Given the description of an element on the screen output the (x, y) to click on. 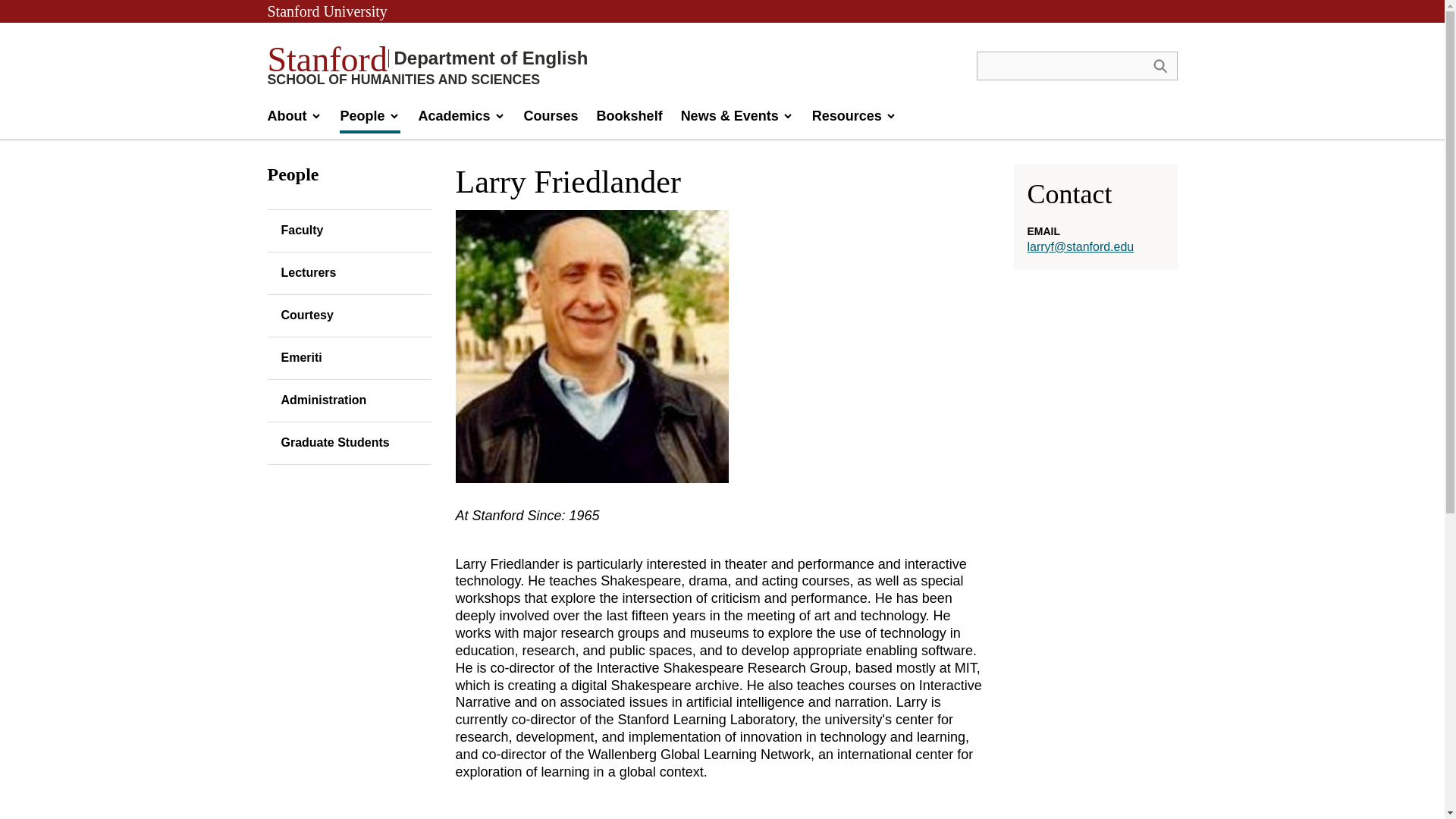
People (368, 120)
Stanford University (326, 11)
Academics (462, 120)
About (293, 120)
